Given the description of an element on the screen output the (x, y) to click on. 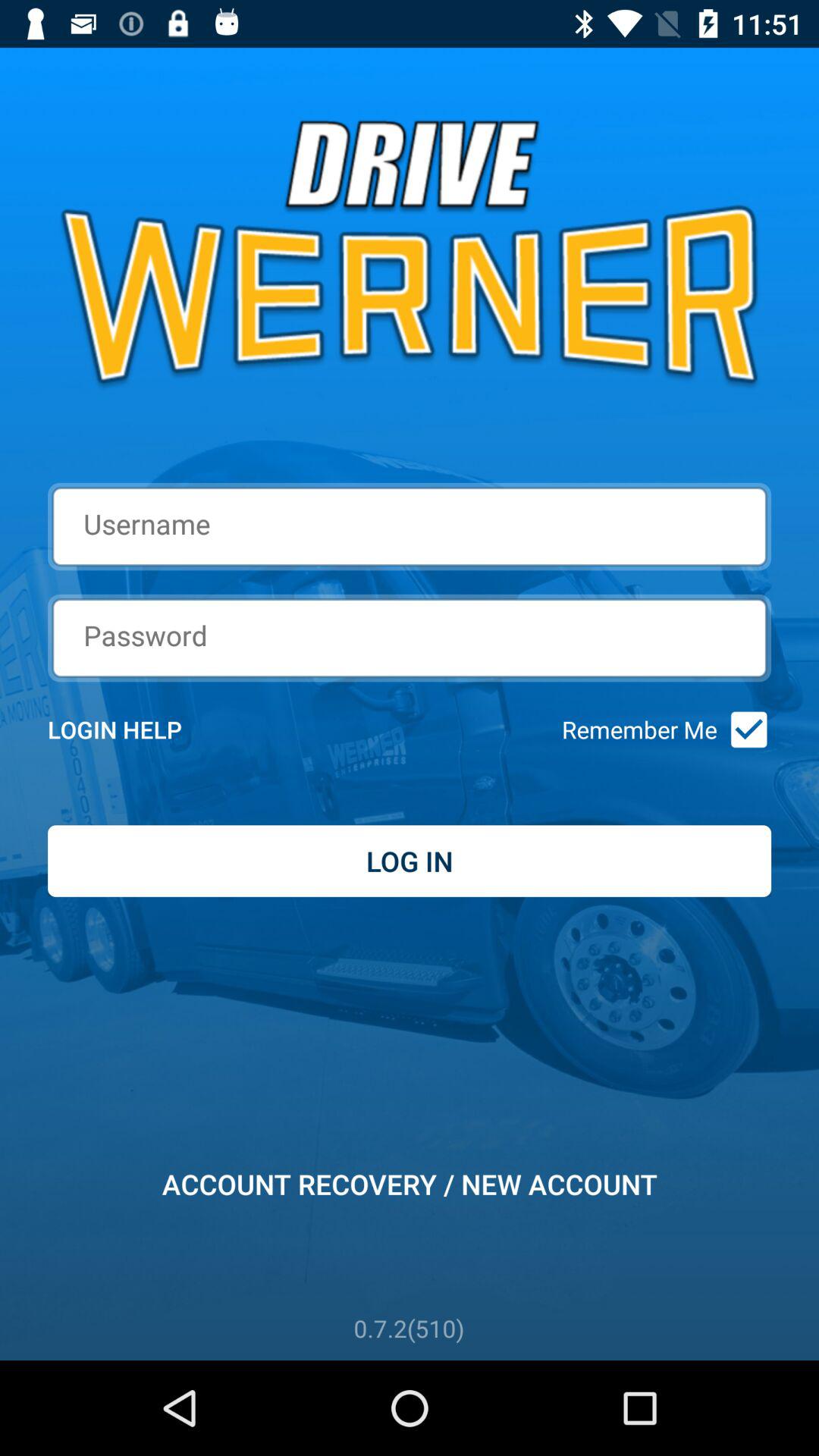
select account recovery new icon (409, 1183)
